Given the description of an element on the screen output the (x, y) to click on. 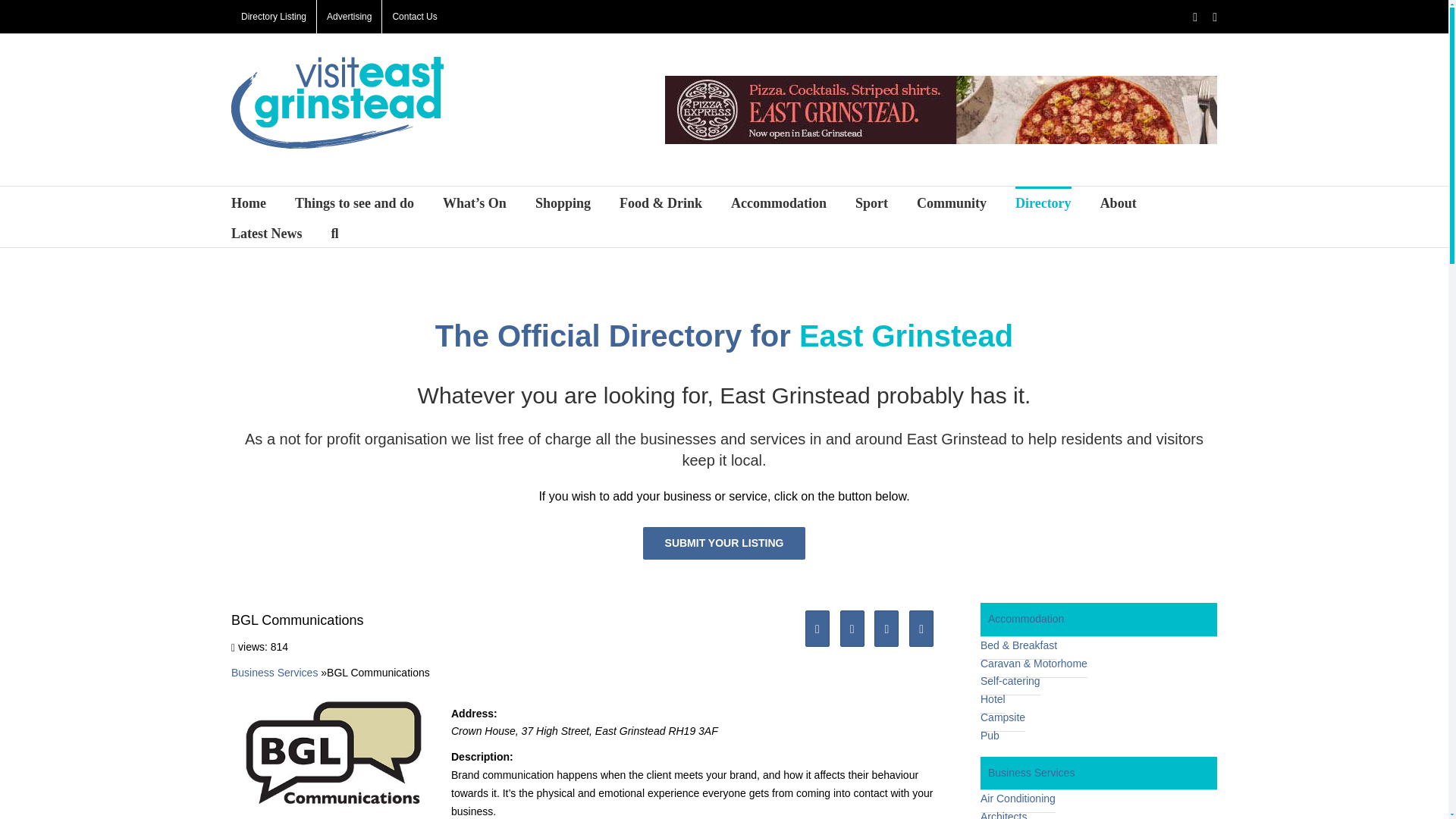
Directory (1042, 201)
Home (248, 201)
Community (952, 201)
Directory Listing (273, 16)
Advertising (349, 16)
About (1118, 201)
Shopping (563, 201)
Business Services (274, 672)
Self-catering (1010, 681)
Contact Us (413, 16)
Accommodation (1098, 619)
Campsite (1002, 717)
Things to see and do (354, 201)
View all listings in Business Services (274, 672)
Sport (872, 201)
